Given the description of an element on the screen output the (x, y) to click on. 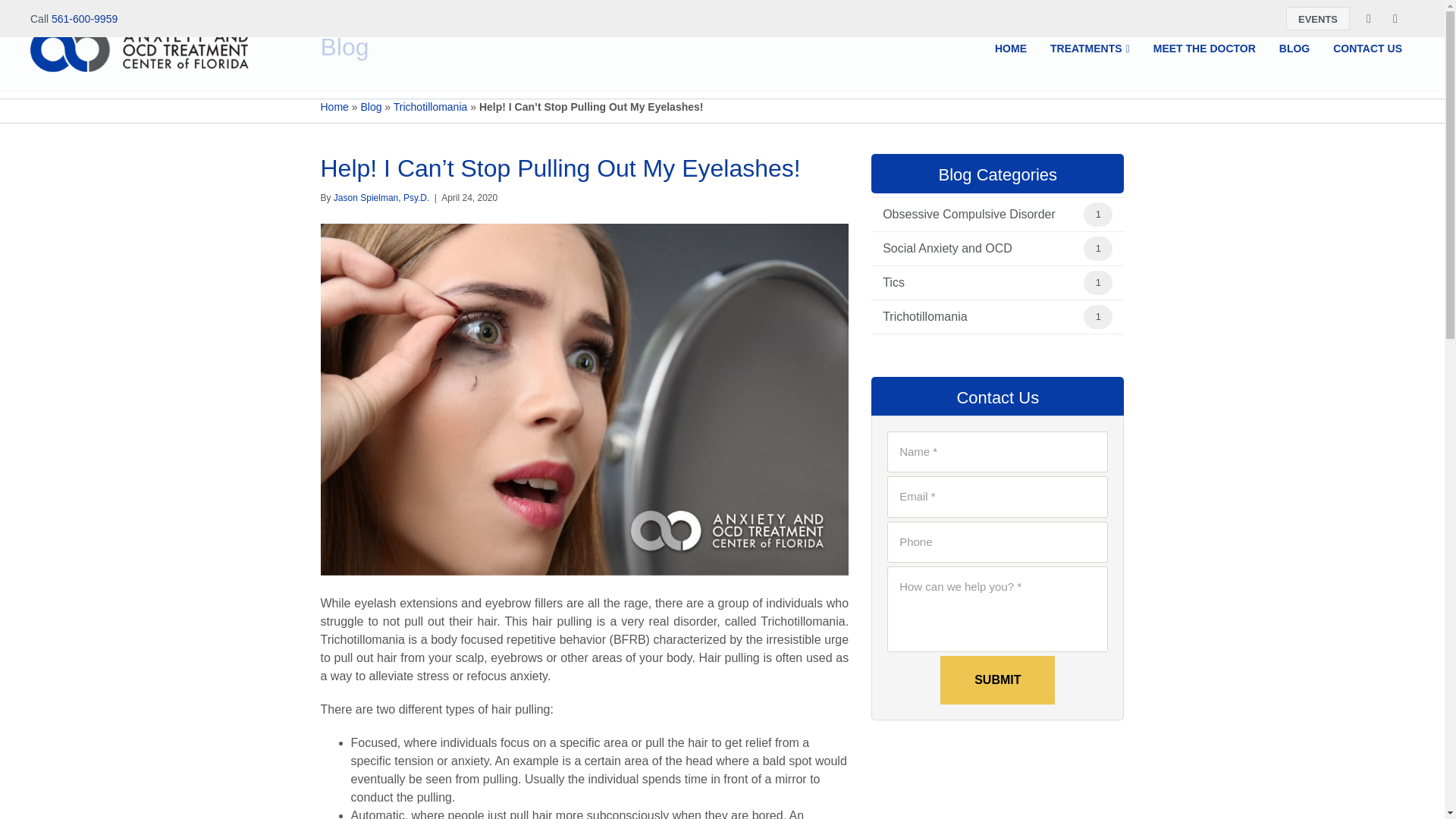
Linkedin (1395, 18)
561-600-9959 (83, 18)
BLOG (1294, 49)
Trichotillomania (976, 316)
TREATMENTS (1090, 49)
CONTACT US (1367, 49)
Social Anxiety and OCD (976, 248)
MEET THE DOCTOR (1203, 49)
EVENTS (1317, 18)
Obsessive Compulsive Disorder (976, 214)
